Given the description of an element on the screen output the (x, y) to click on. 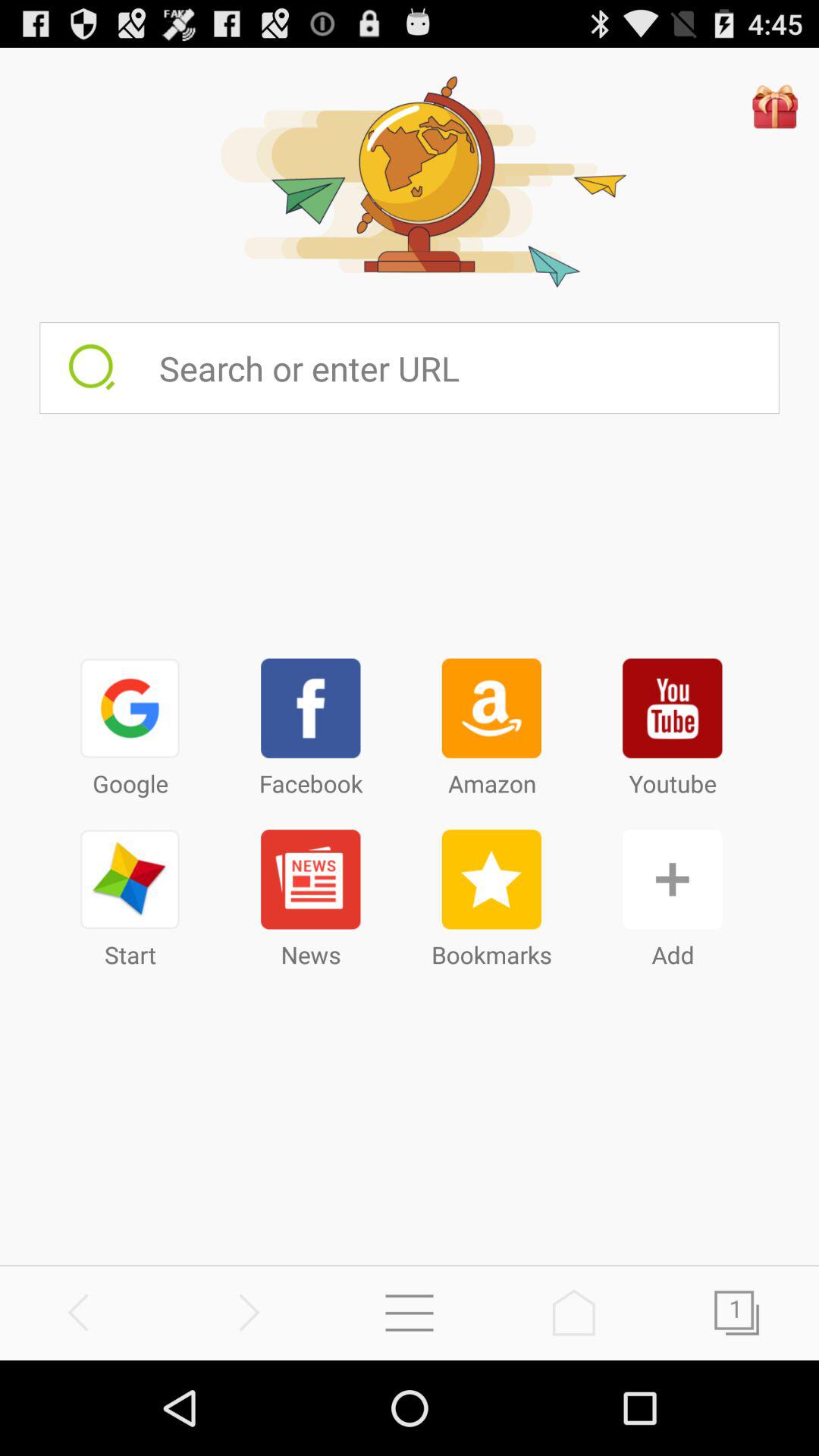
next page (736, 1312)
